Given the description of an element on the screen output the (x, y) to click on. 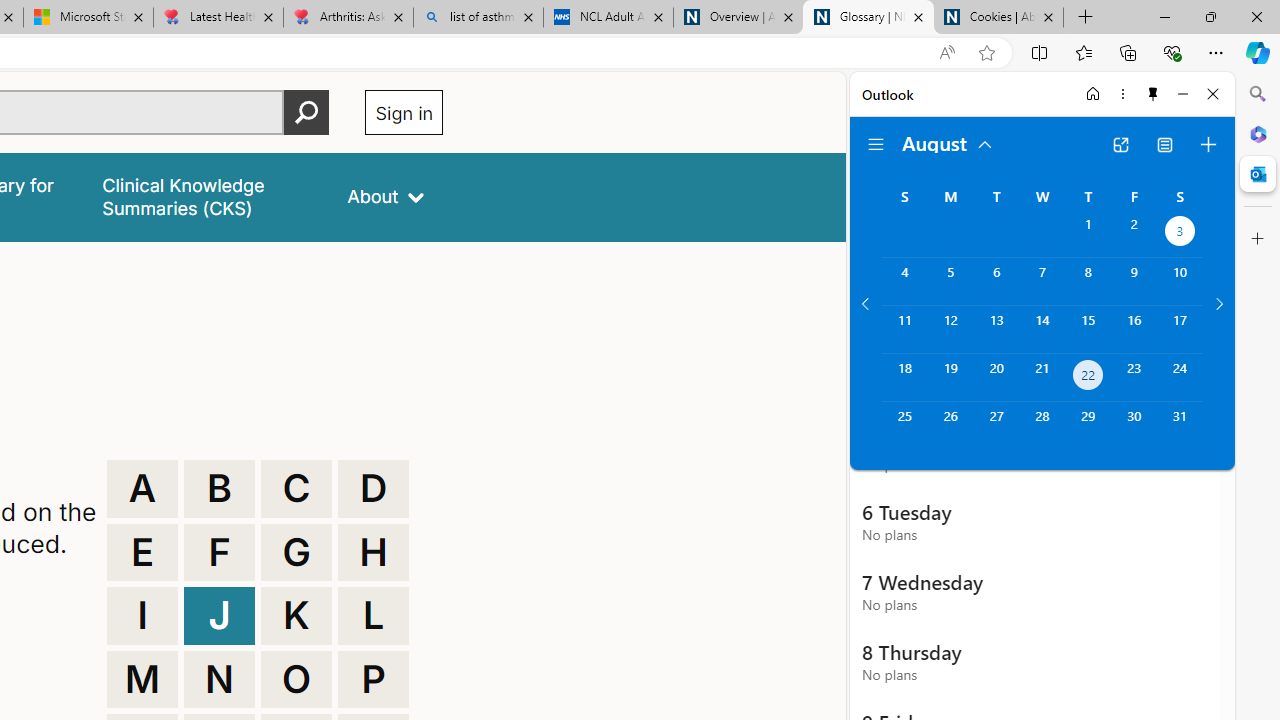
B (219, 488)
A (142, 488)
Unpin side pane (1153, 93)
C (296, 488)
F (219, 551)
Arthritis: Ask Health Professionals (348, 17)
Wednesday, August 7, 2024.  (1042, 281)
H (373, 551)
Sunday, August 4, 2024.  (904, 281)
J (219, 615)
Sunday, August 18, 2024.  (904, 377)
Sign in (404, 112)
